Given the description of an element on the screen output the (x, y) to click on. 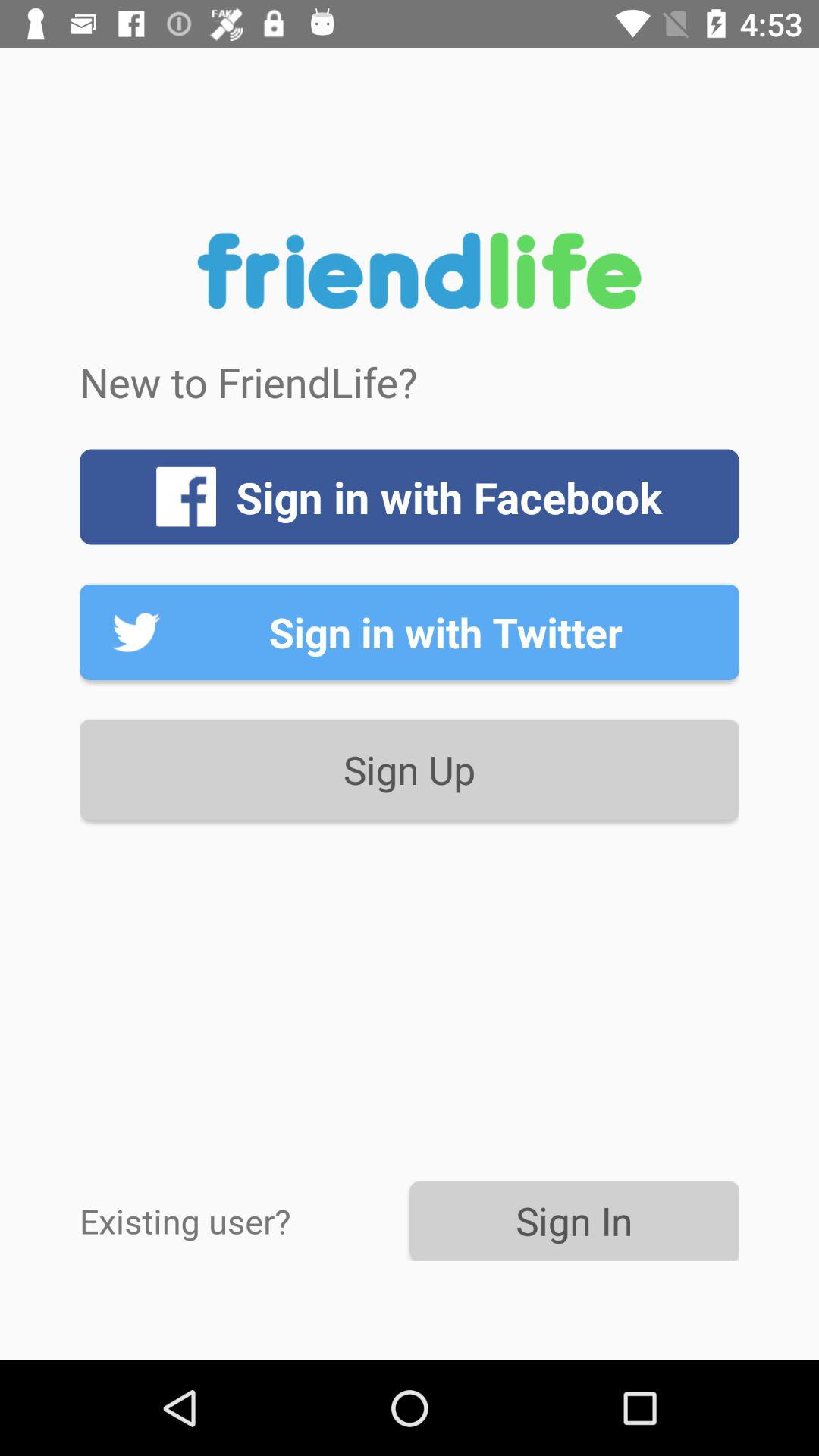
select the icon next to sign in icon (244, 1220)
